Given the description of an element on the screen output the (x, y) to click on. 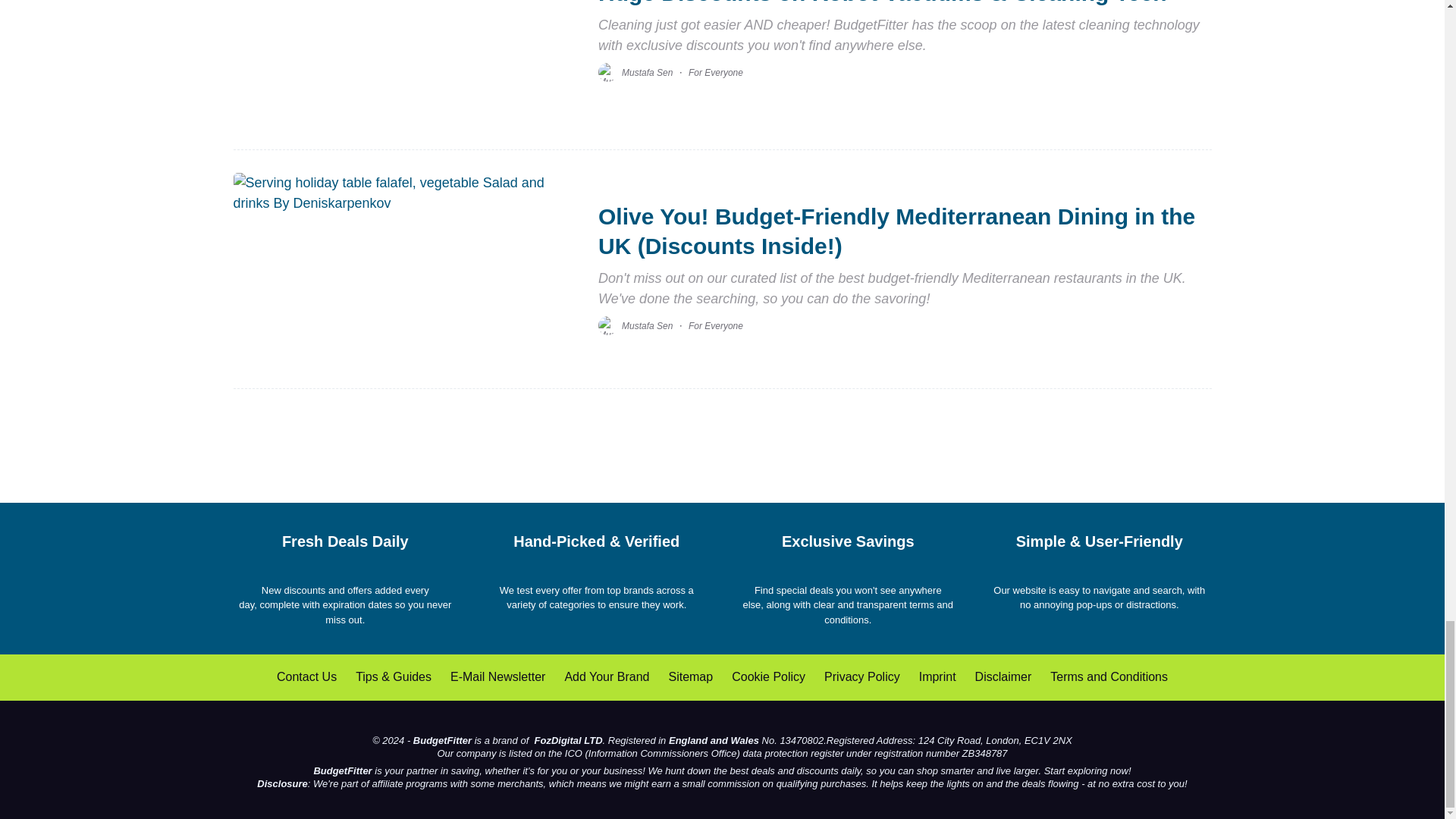
Posts by Mustafa Sen (646, 72)
Posts by Mustafa Sen (646, 326)
